Given the description of an element on the screen output the (x, y) to click on. 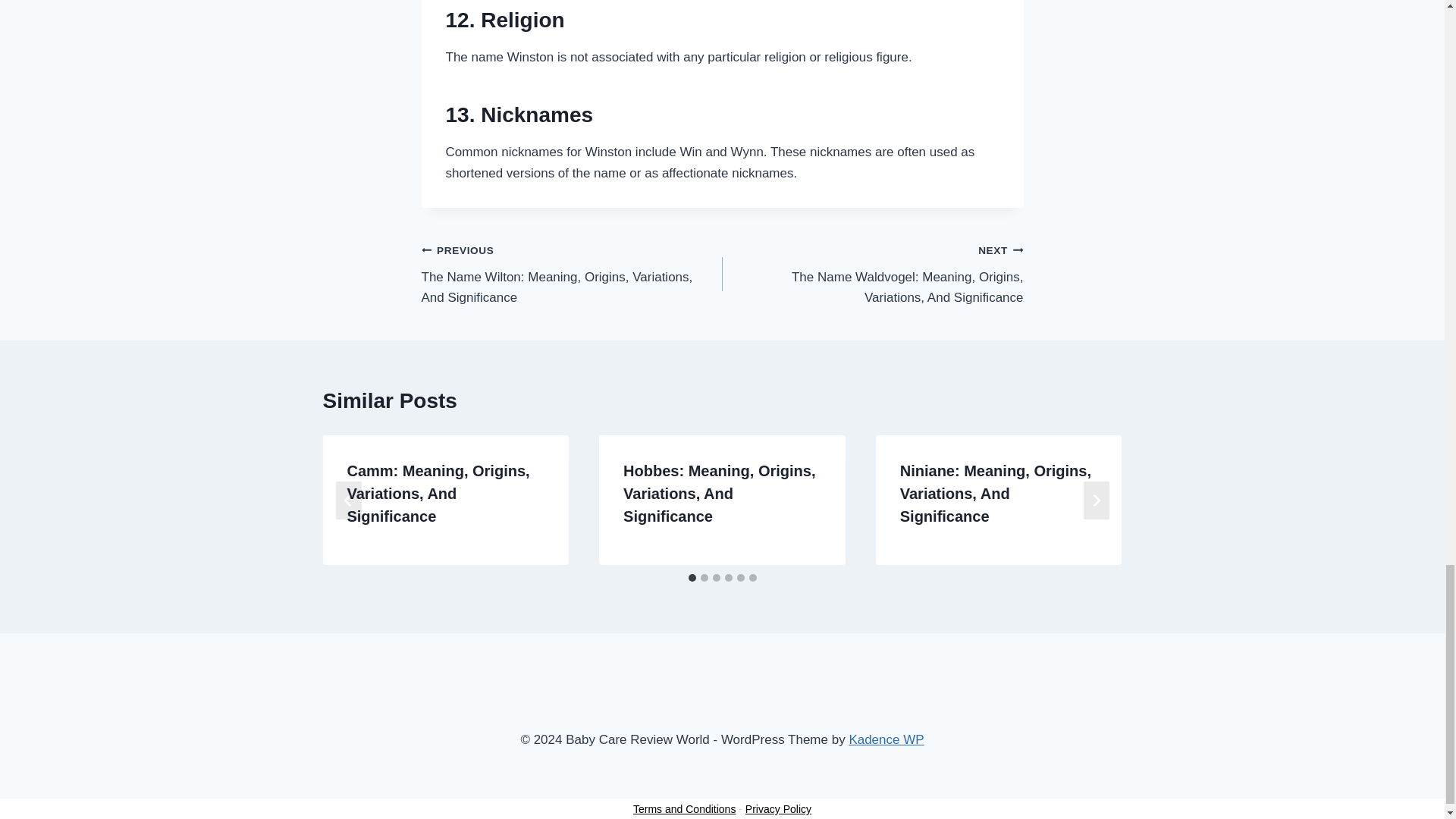
Camm: Meaning, Origins, Variations, And Significance (437, 493)
Niniane: Meaning, Origins, Variations, And Significance (994, 493)
Hobbes: Meaning, Origins, Variations, And Significance (719, 493)
